Given the description of an element on the screen output the (x, y) to click on. 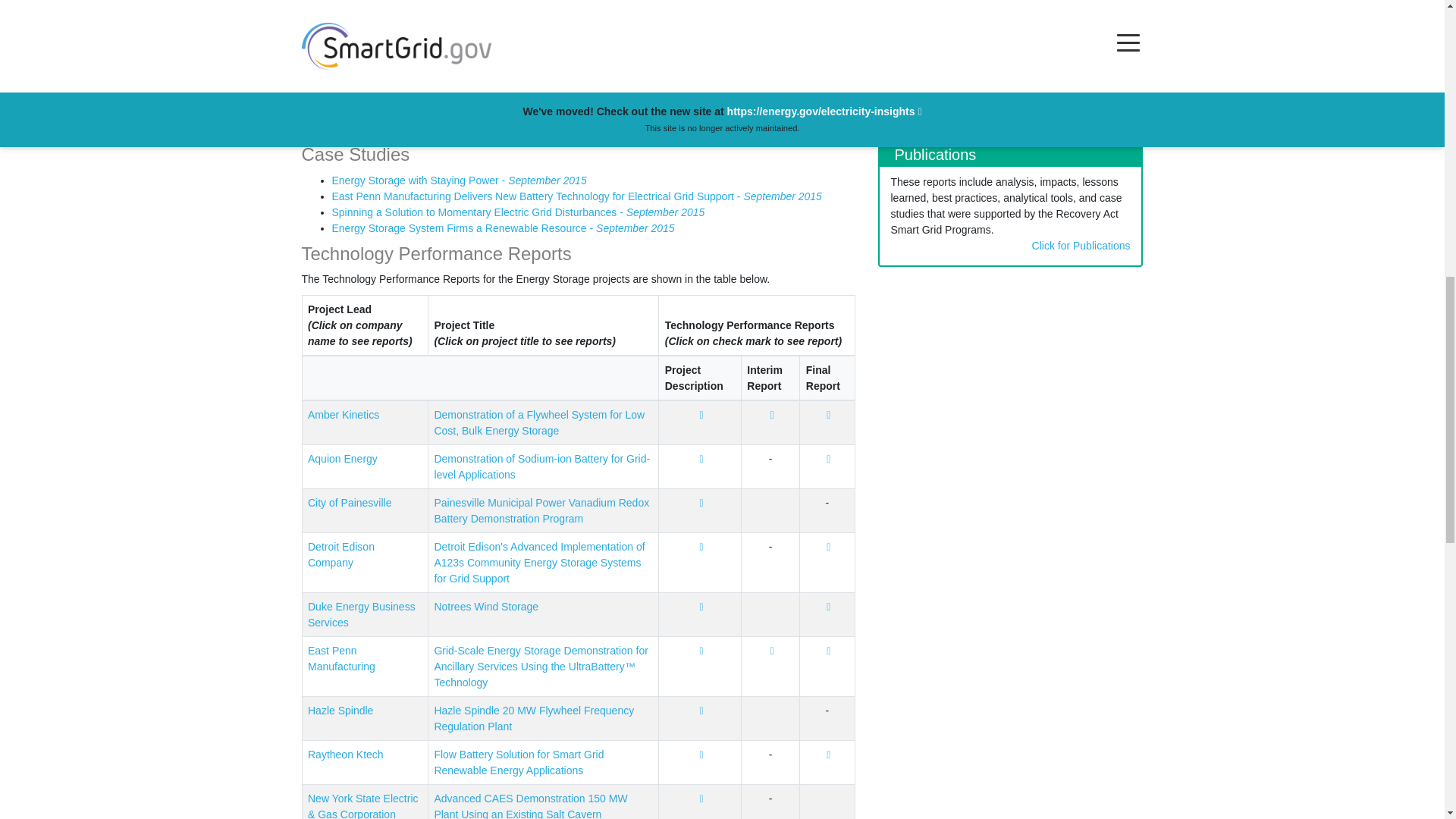
Energy Storage with Staying Power - September 2015 (458, 180)
City of Painesville (349, 502)
Aquion Energy (342, 458)
Notrees Wind Storage (485, 606)
Detroit Edison Company (340, 554)
Duke Energy Business Services (360, 614)
Amber Kinetics (342, 414)
